Given the description of an element on the screen output the (x, y) to click on. 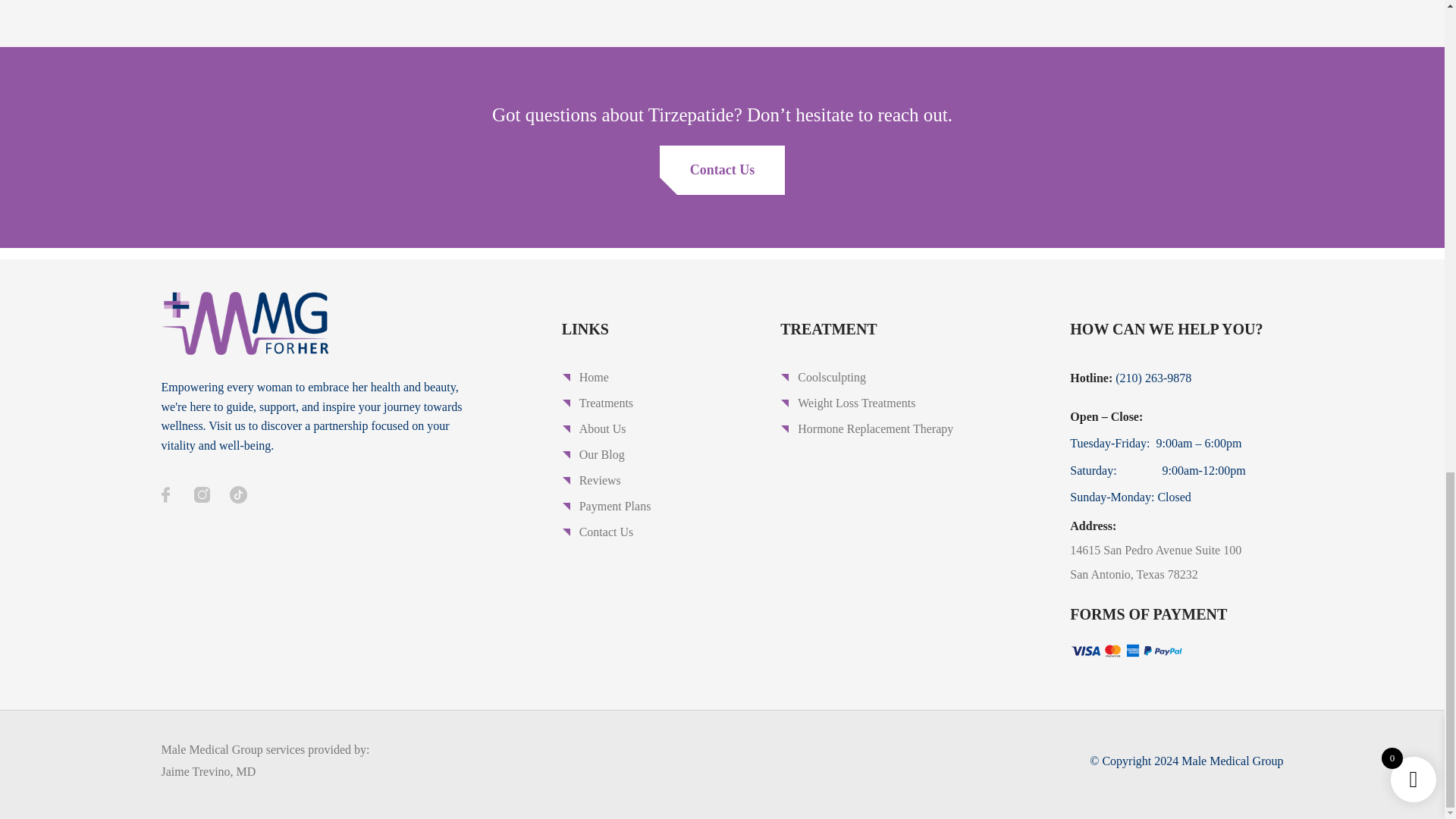
6220ac0f912013c51947f9c4 (1126, 650)
Follow on Instagram (201, 494)
Follow on TikTok (237, 494)
Follow on Facebook (164, 494)
